Given the description of an element on the screen output the (x, y) to click on. 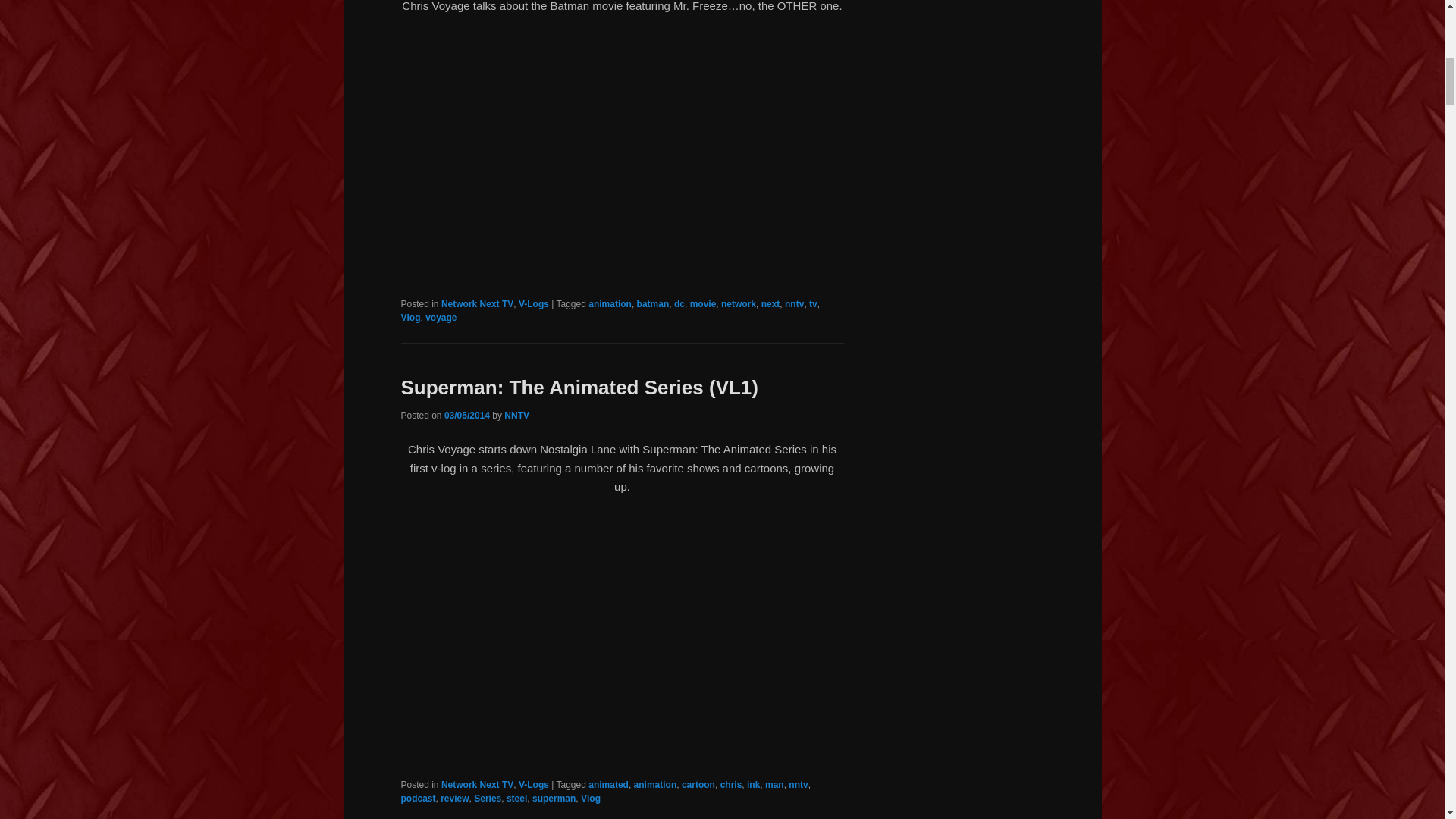
V-Logs (533, 303)
View all posts by NNTV (516, 415)
Network Next TV (477, 303)
17:35 (466, 415)
